Given the description of an element on the screen output the (x, y) to click on. 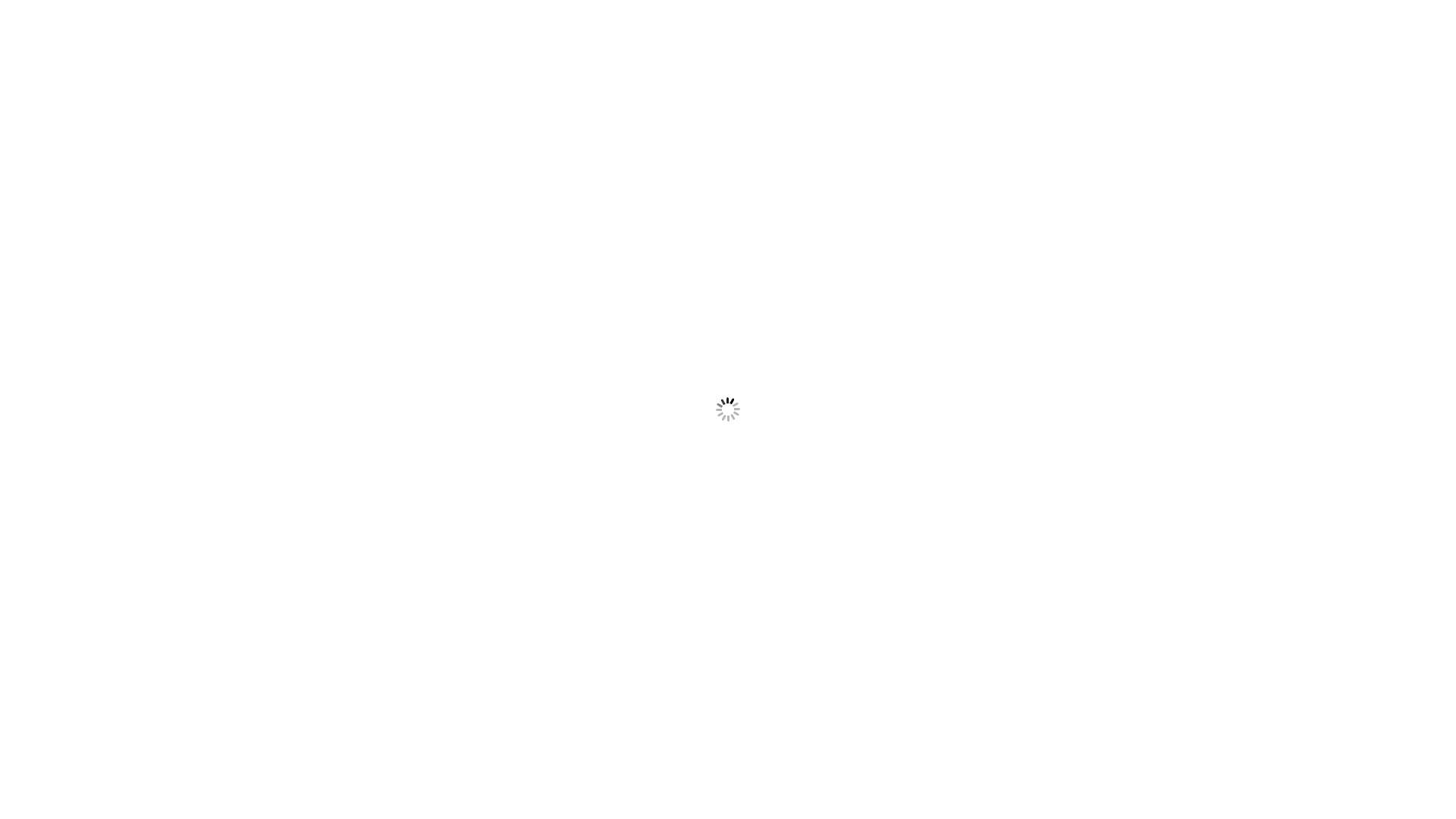
+618 8821 1920 Element type: text (772, 156)
08 8821 1920 Element type: text (666, 156)
Book direct Element type: text (988, 515)
Accommodation Element type: text (722, 515)
Kadina Village Motel Element type: hover (433, 105)
Home Element type: text (453, 515)
Location Element type: text (614, 515)
Accommodation Element type: text (722, 515)
Contact Element type: text (826, 515)
Read More Element type: text (345, 796)
Terms Element type: text (903, 515)
About us Element type: text (529, 515)
